Given the description of an element on the screen output the (x, y) to click on. 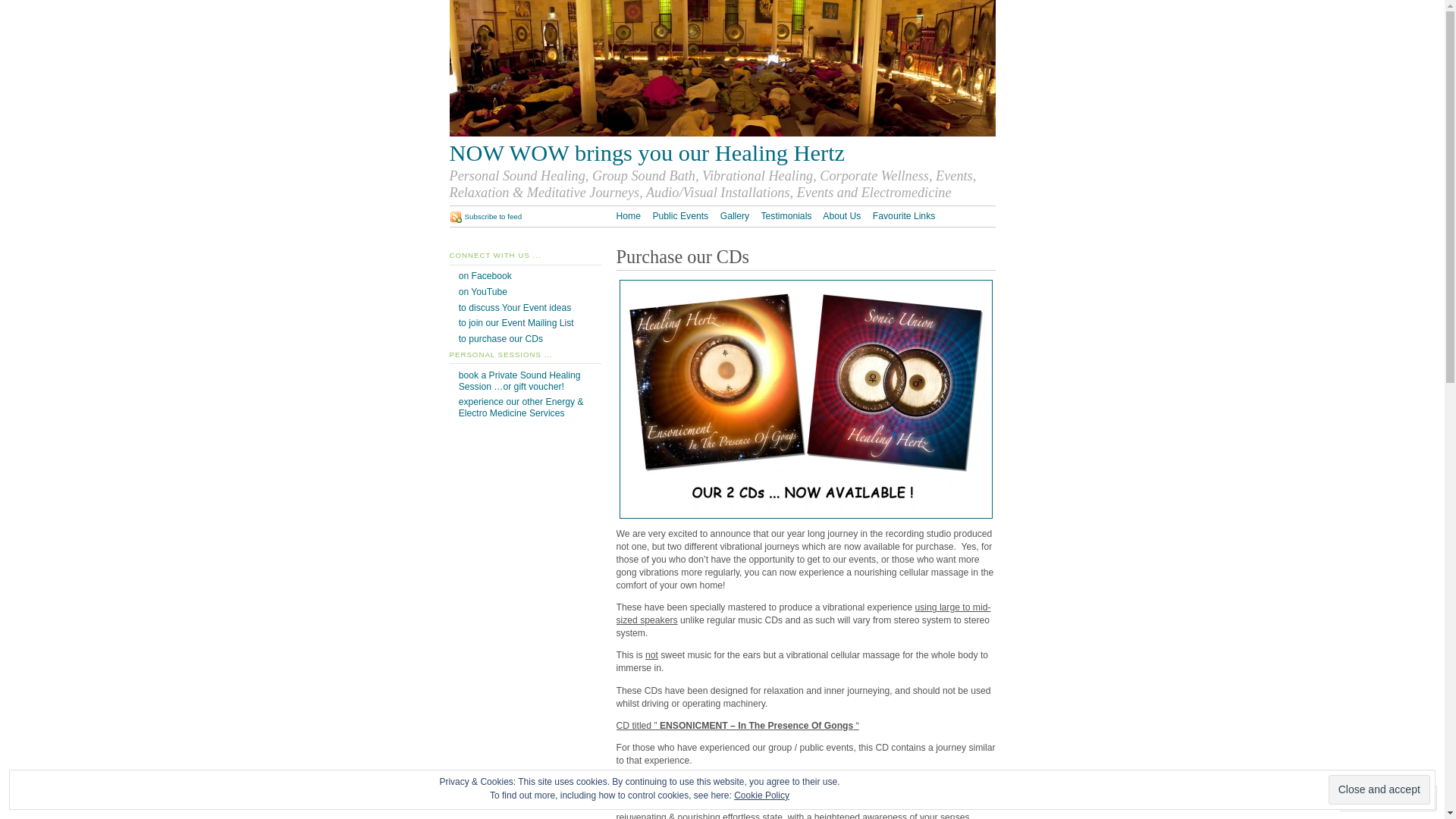
About Us Element type: text (841, 215)
Follow Element type: text (1374, 797)
Subscribe to feed Element type: text (484, 216)
Testimonials Element type: text (786, 215)
to purchase our CDs Element type: text (500, 338)
Public Events Element type: text (680, 215)
to join our Event Mailing List Element type: text (516, 322)
Cookie Policy Element type: text (761, 795)
Home Element type: text (627, 215)
Return to front page Element type: hover (721, 133)
NOW WOW brings you our Healing Hertz Element type: text (721, 152)
Favourite Links Element type: text (903, 215)
to discuss Your Event ideas Element type: text (514, 307)
experience our other Energy & Electro Medicine Services Element type: text (520, 407)
on Facebook Element type: text (484, 275)
on YouTube Element type: text (482, 291)
Close and accept Element type: text (1379, 789)
Gallery Element type: text (734, 215)
